Given the description of an element on the screen output the (x, y) to click on. 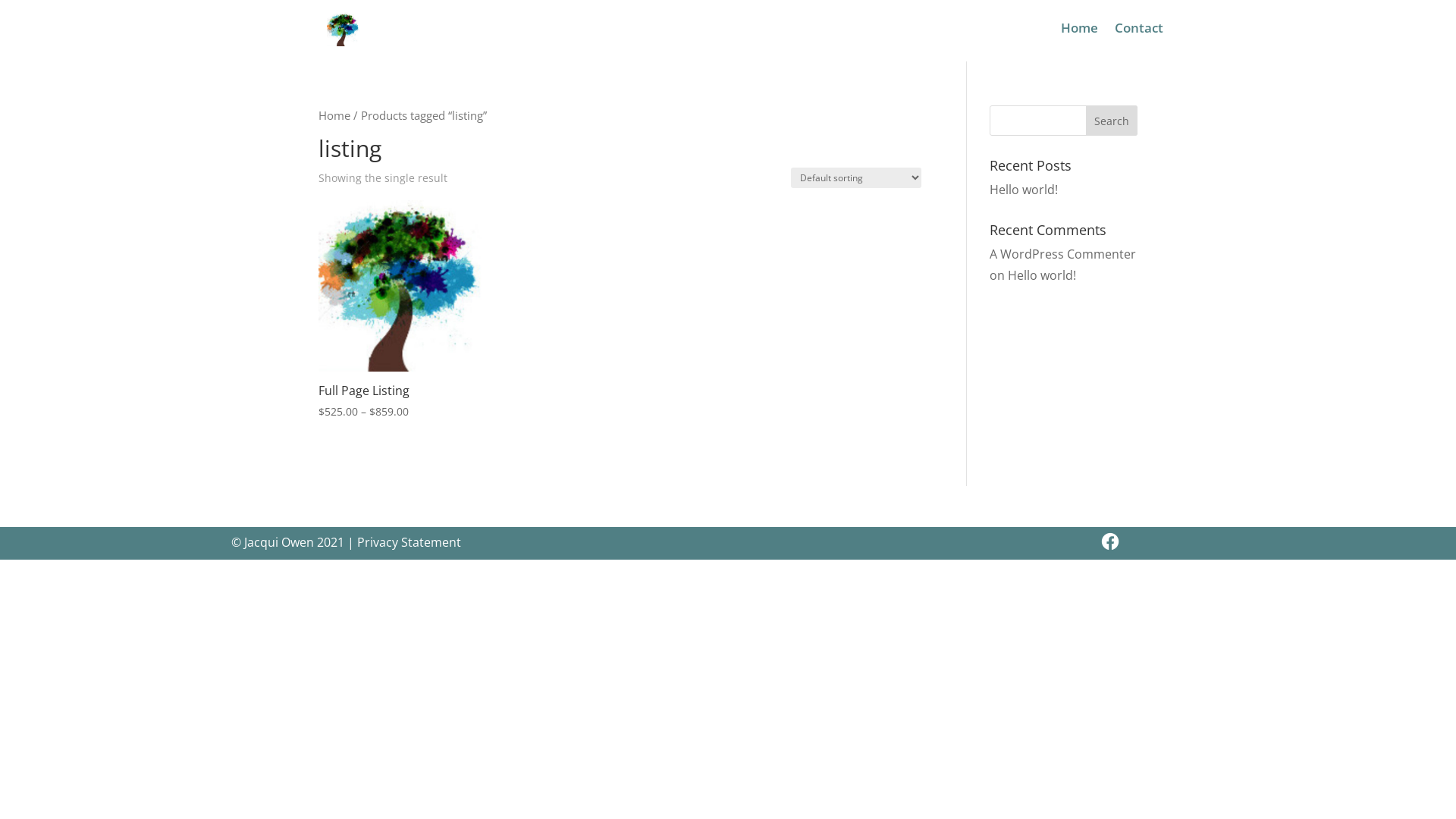
Home Element type: text (1079, 30)
A WordPress Commenter Element type: text (1062, 253)
Contact Element type: text (1138, 30)
Search Element type: text (1111, 120)
Hello world! Element type: text (1041, 274)
Hello world! Element type: text (1023, 189)
Privacy Statement Element type: text (409, 541)
Home Element type: text (334, 114)
